Given the description of an element on the screen output the (x, y) to click on. 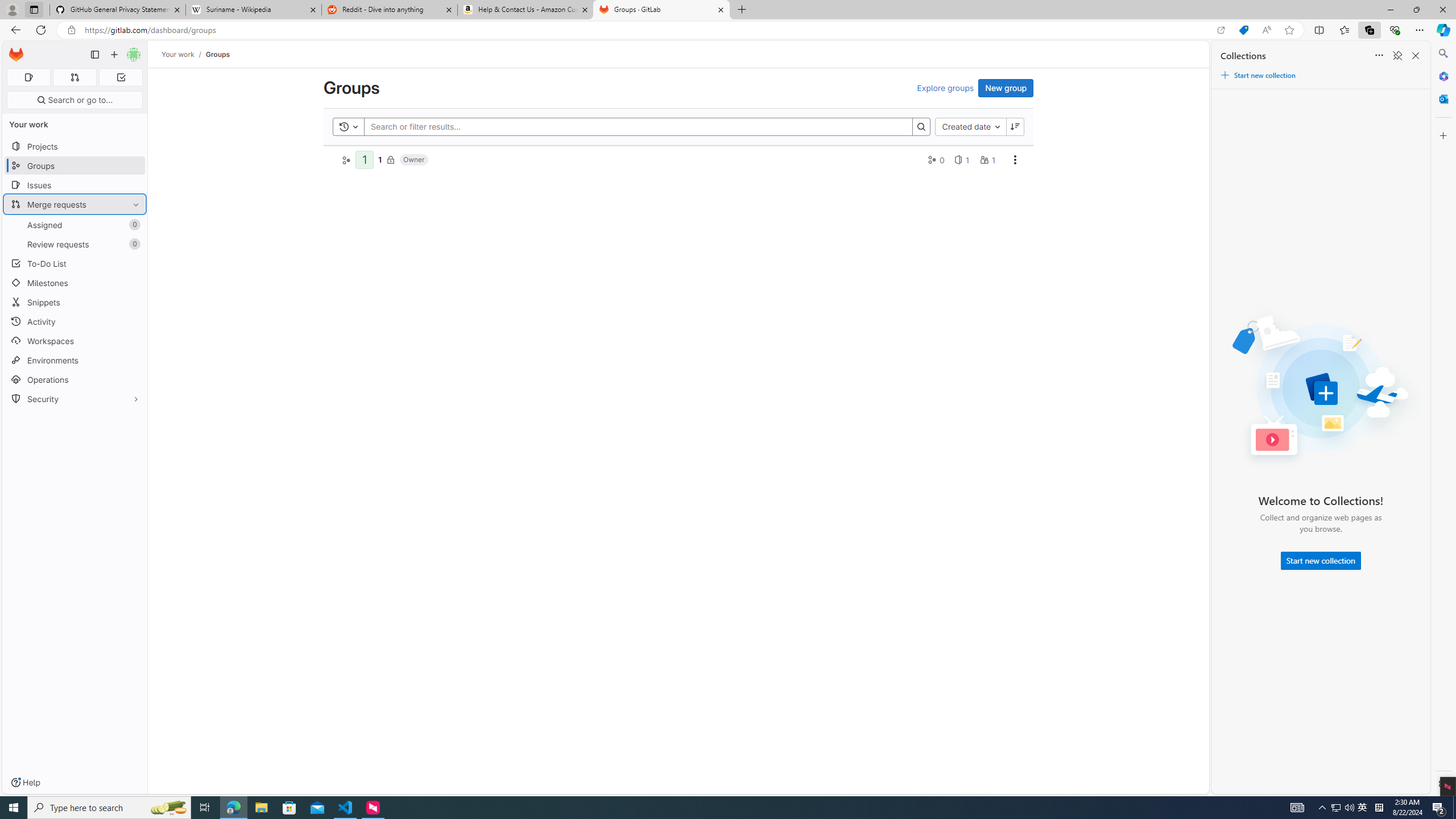
Merge requests 0 (74, 76)
Groups (217, 53)
Merge requests (74, 203)
Issues (74, 185)
Your work/ (183, 53)
Primary navigation sidebar (94, 54)
GitHub General Privacy Statement - GitHub Docs (117, 9)
Projects (74, 145)
Review requests 0 (74, 244)
